Given the description of an element on the screen output the (x, y) to click on. 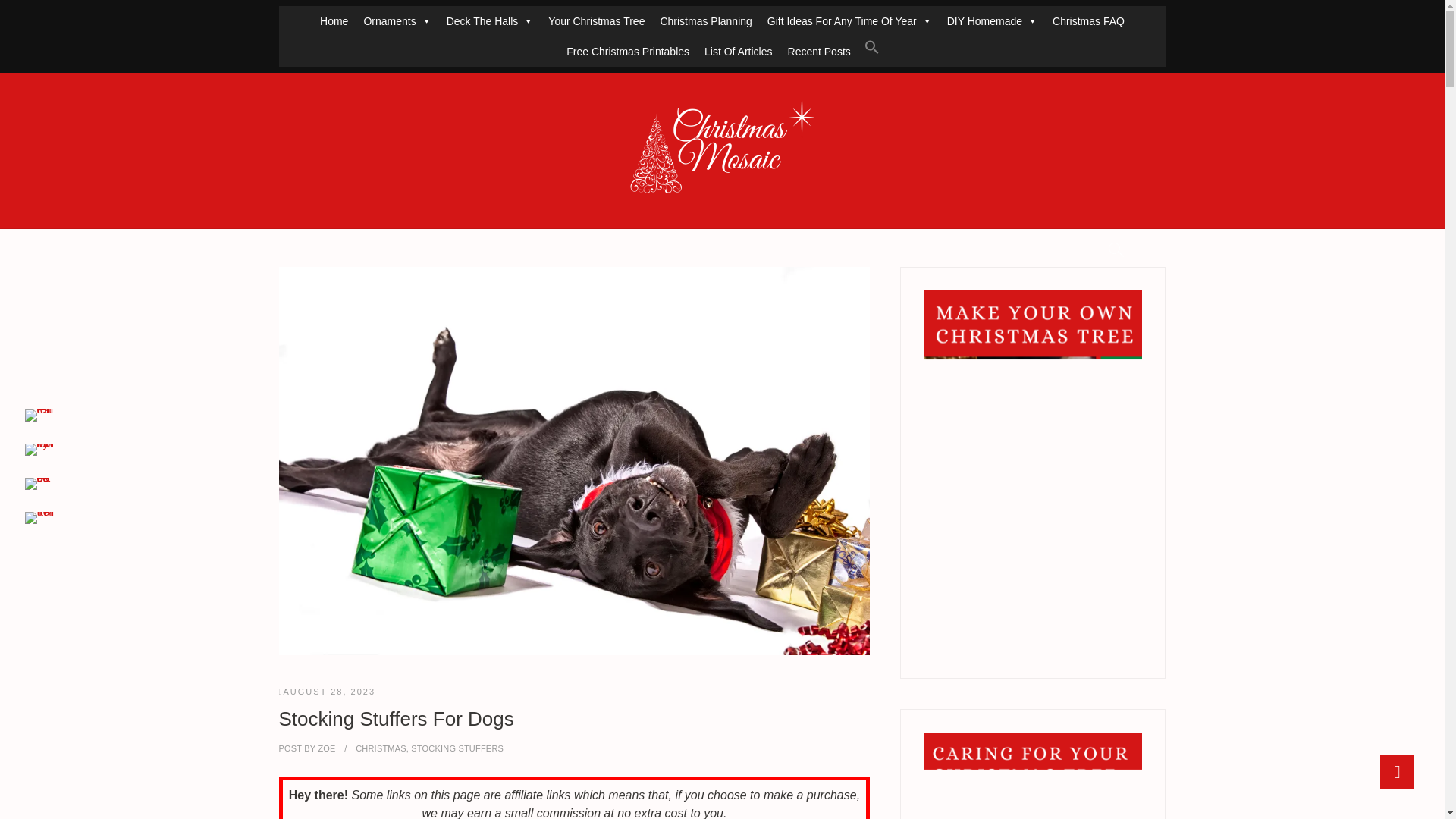
Home (334, 20)
Christmas Planning (705, 20)
DIY Homemade (992, 20)
Your Christmas Tree (596, 20)
Gift Ideas For Any Time Of Year (849, 20)
Stocking Stuffers For Dogs (324, 747)
1:58 pm (327, 691)
Christmas Mosaic (114, 224)
Deck The Halls (490, 20)
Ornaments (396, 20)
